Given the description of an element on the screen output the (x, y) to click on. 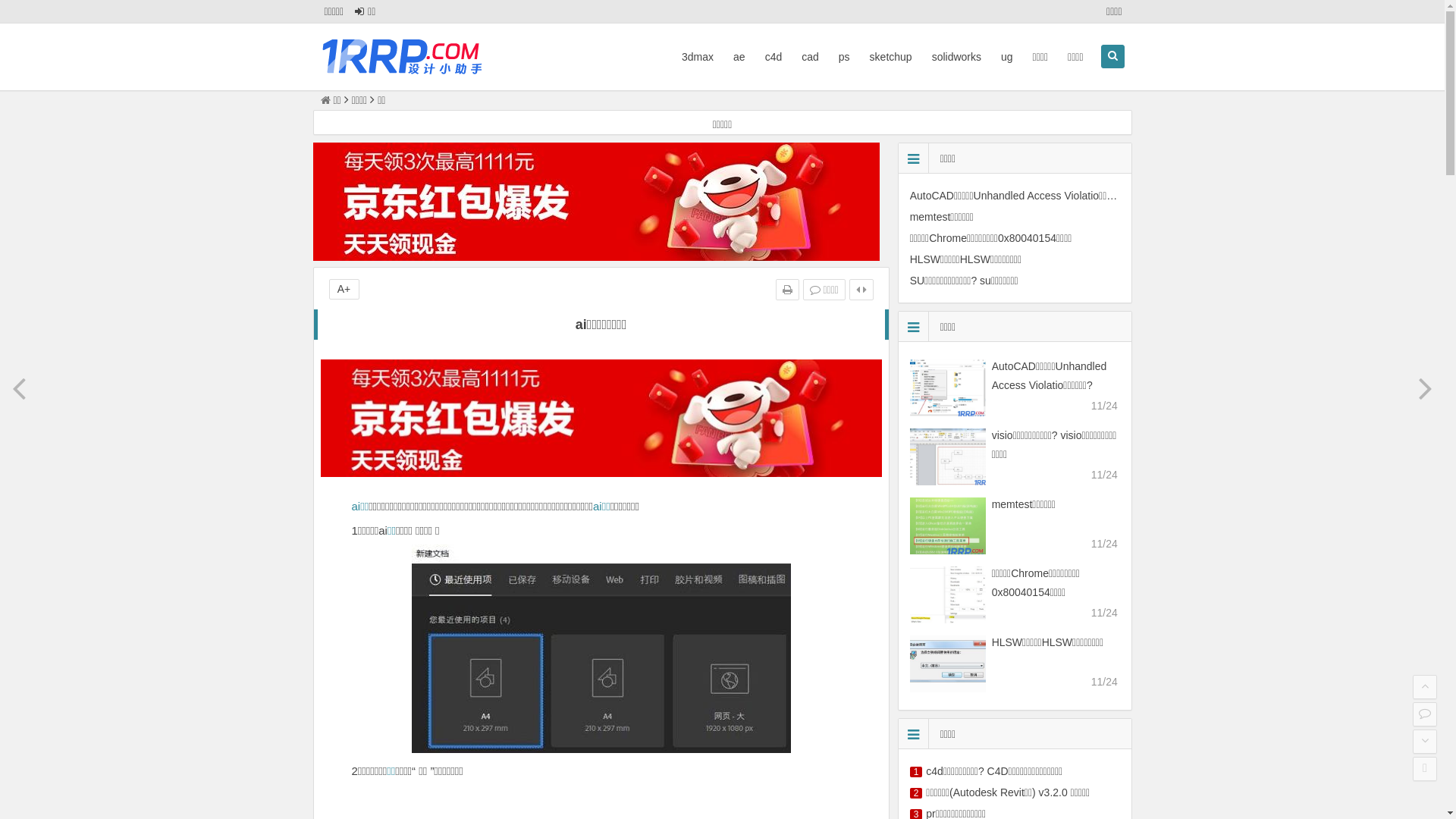
c4d Element type: text (773, 56)
ps Element type: text (843, 56)
cad Element type: text (809, 56)
3dmax Element type: text (697, 56)
solidworks Element type: text (956, 56)
ug Element type: text (1006, 56)
ae Element type: text (739, 56)
sketchup Element type: text (890, 56)
